Given the description of an element on the screen output the (x, y) to click on. 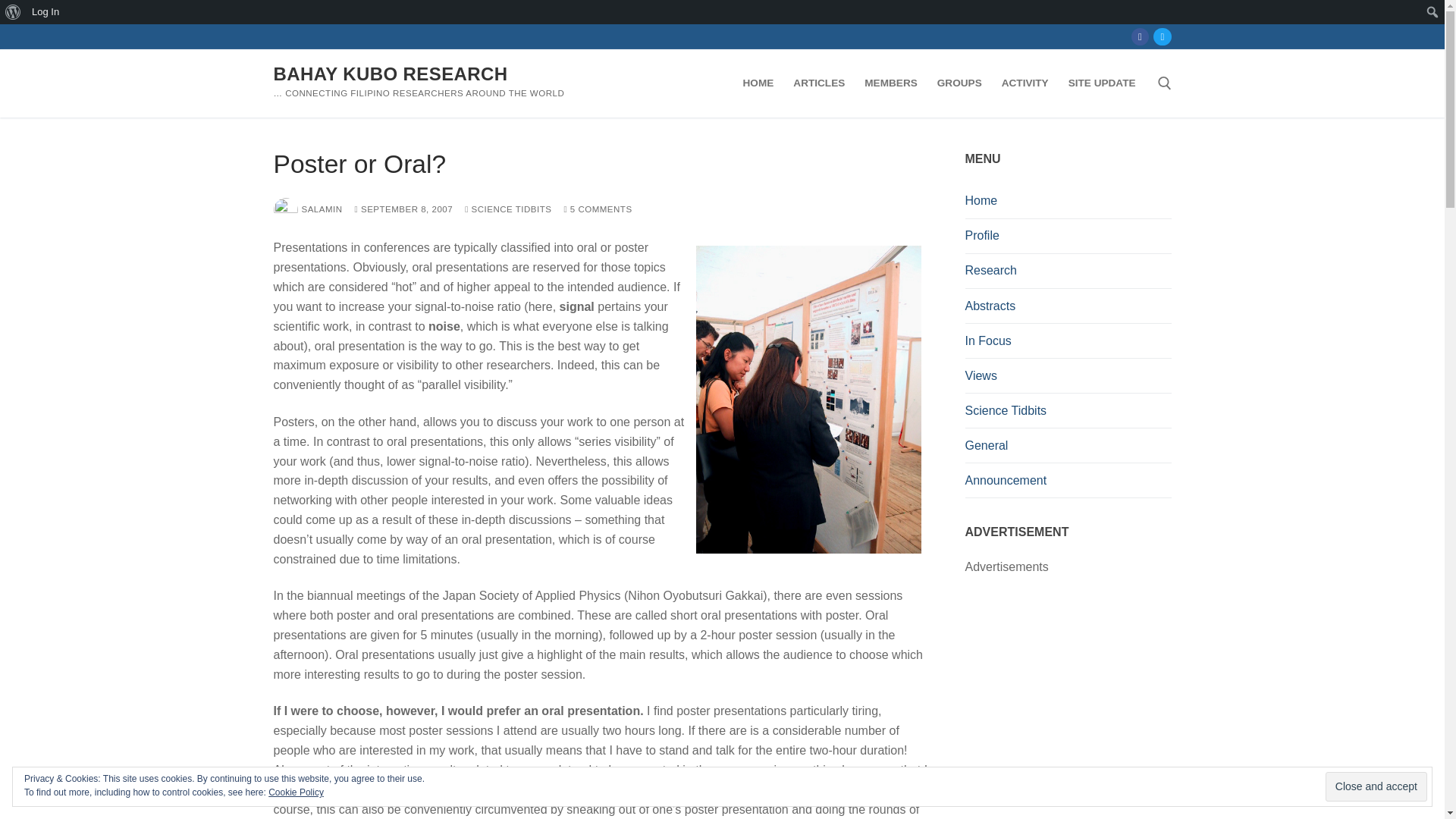
MEMBERS (890, 82)
SALAMIN (307, 208)
HOME (758, 82)
GROUPS (959, 82)
5 COMMENTS (597, 208)
BAHAY KUBO RESEARCH (389, 73)
Log In (45, 12)
Facebook (1139, 36)
Search (11, 12)
Close and accept (1375, 786)
SITE UPDATE (1101, 82)
SEPTEMBER 8, 2007 (403, 208)
Twitter (1162, 36)
ACTIVITY (1024, 82)
ARTICLES (818, 82)
